Given the description of an element on the screen output the (x, y) to click on. 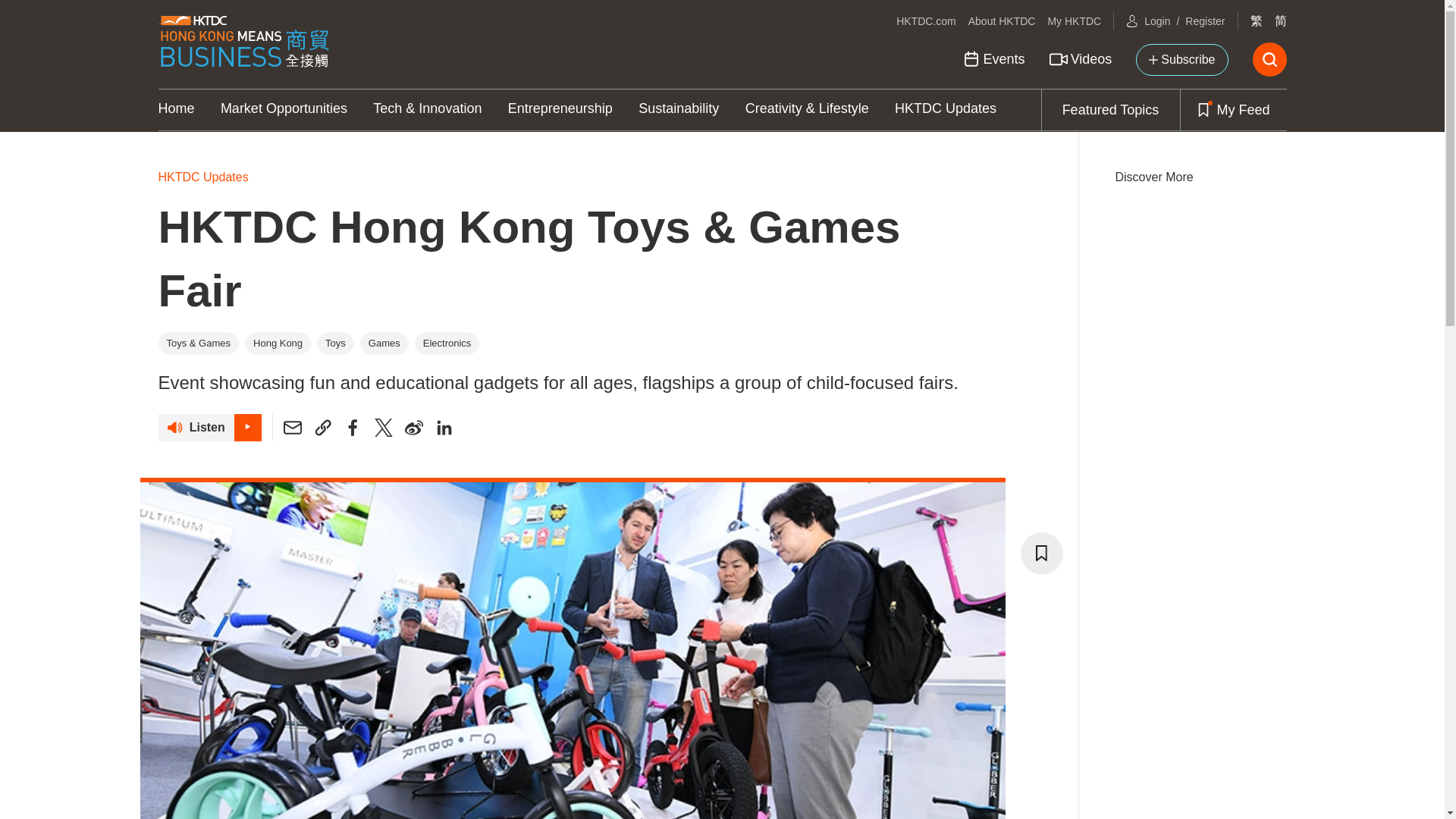
HKTDC Updates (945, 109)
About HKTDC (1001, 21)
Sustainability (679, 109)
Games (384, 343)
Events (993, 59)
HKTDC Updates (572, 181)
Market Opportunities (284, 109)
HKTDC.com (926, 21)
Electronics (447, 343)
Entrepreneurship (560, 109)
